Given the description of an element on the screen output the (x, y) to click on. 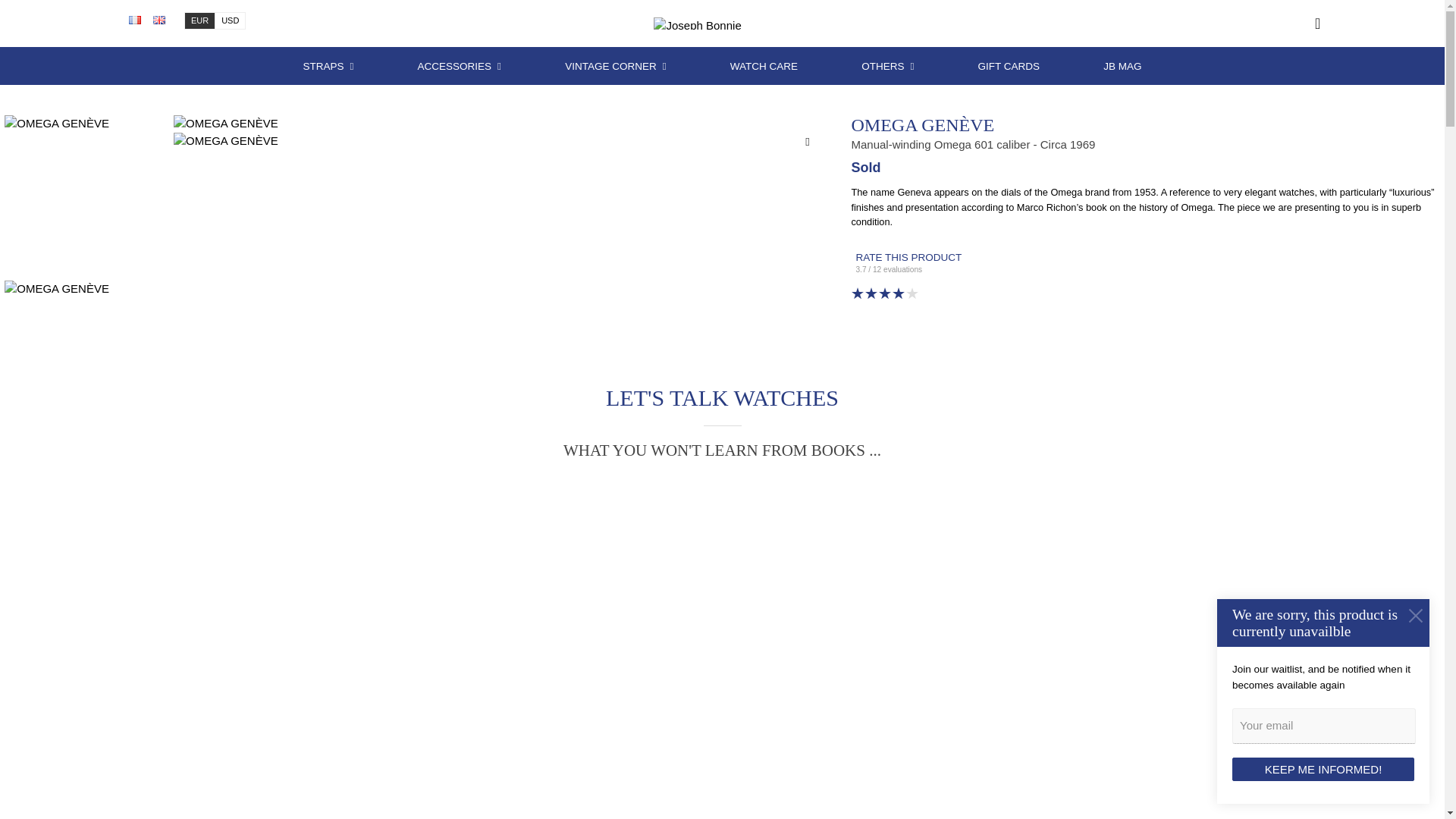
STRAPS (327, 66)
My account (1221, 23)
Search (1186, 23)
Subscribe! (1291, 23)
WATCH CARE (763, 66)
VINTAGE CORNER (615, 66)
ACCESSORIES (458, 66)
OTHERS (888, 66)
GIFT CARDS (1009, 66)
JB MAG (1122, 66)
USD (230, 20)
My cart (1256, 23)
Add to wishlist (807, 141)
KEEP ME INFORMED! (1322, 769)
